Given the description of an element on the screen output the (x, y) to click on. 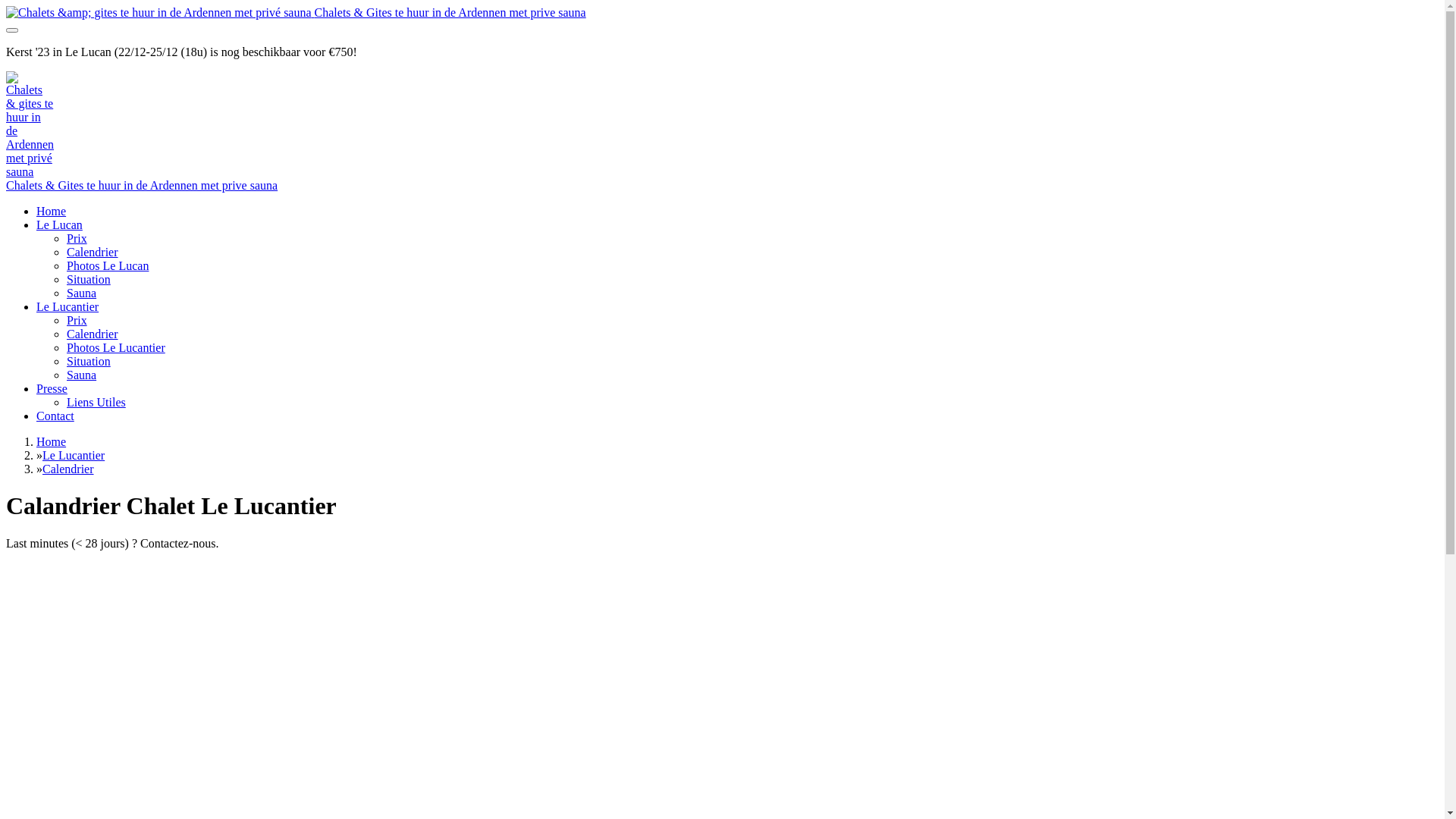
Home Element type: text (50, 210)
Situation Element type: text (88, 360)
Le Lucantier Element type: text (73, 454)
Photos Le Lucan Element type: text (107, 265)
Calendrier Element type: text (68, 468)
Prix Element type: text (76, 238)
Chalets & Gites te huur in de Ardennen met prive sauna Element type: text (141, 184)
Le Lucan Element type: text (59, 224)
Liens Utiles Element type: text (95, 401)
Contact Element type: text (55, 415)
Situation Element type: text (88, 279)
Sauna Element type: text (81, 374)
Home Element type: text (50, 441)
Photos Le Lucantier Element type: text (115, 347)
Calendrier Element type: text (92, 333)
Le Lucantier Element type: text (67, 306)
Calendrier Element type: text (92, 251)
Prix Element type: text (76, 319)
Presse Element type: text (51, 388)
Chalets & Gites te huur in de Ardennen met prive sauna Element type: text (296, 12)
Sauna Element type: text (81, 292)
